Given the description of an element on the screen output the (x, y) to click on. 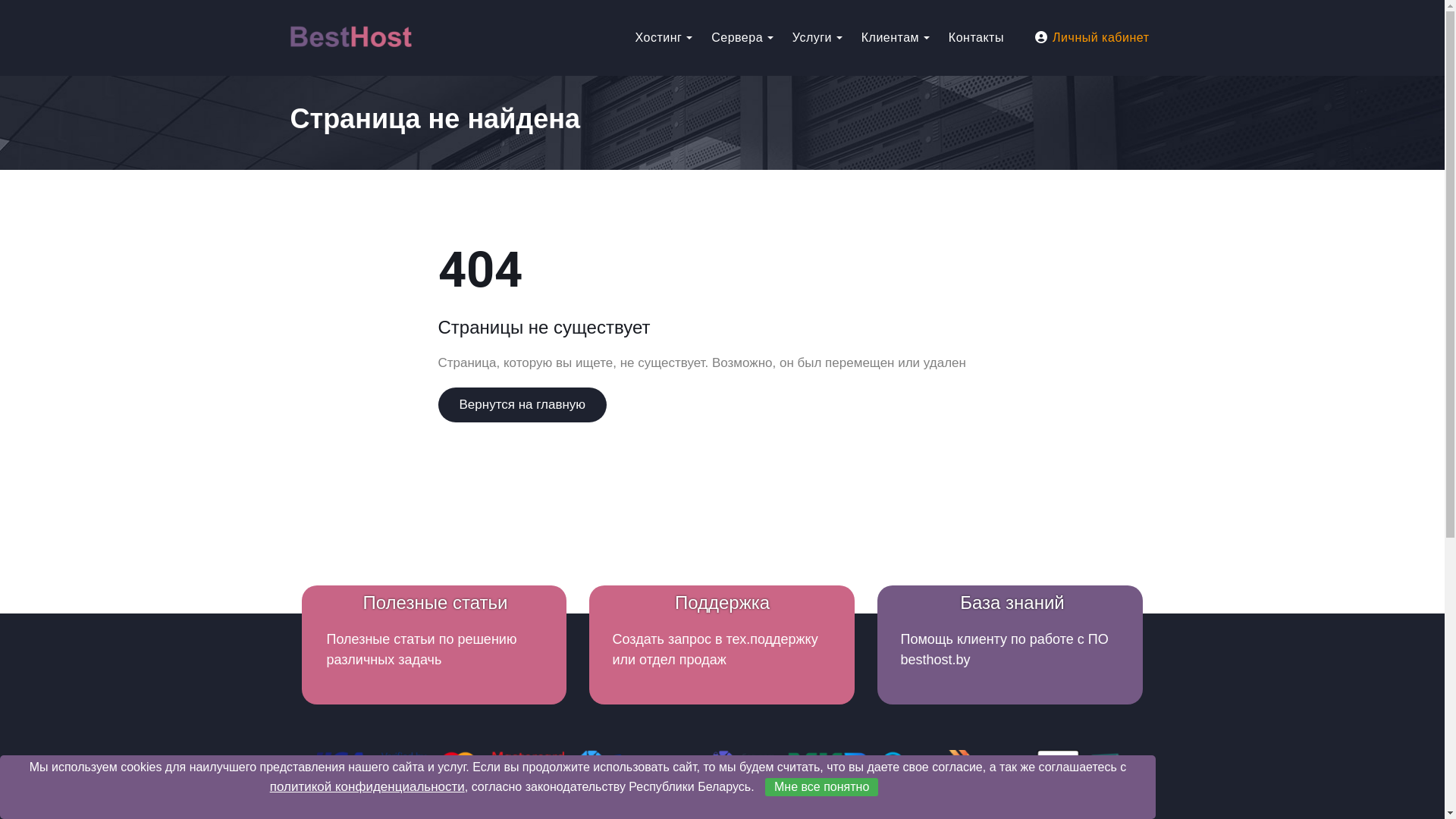
pay-pay Element type: hover (722, 763)
